Given the description of an element on the screen output the (x, y) to click on. 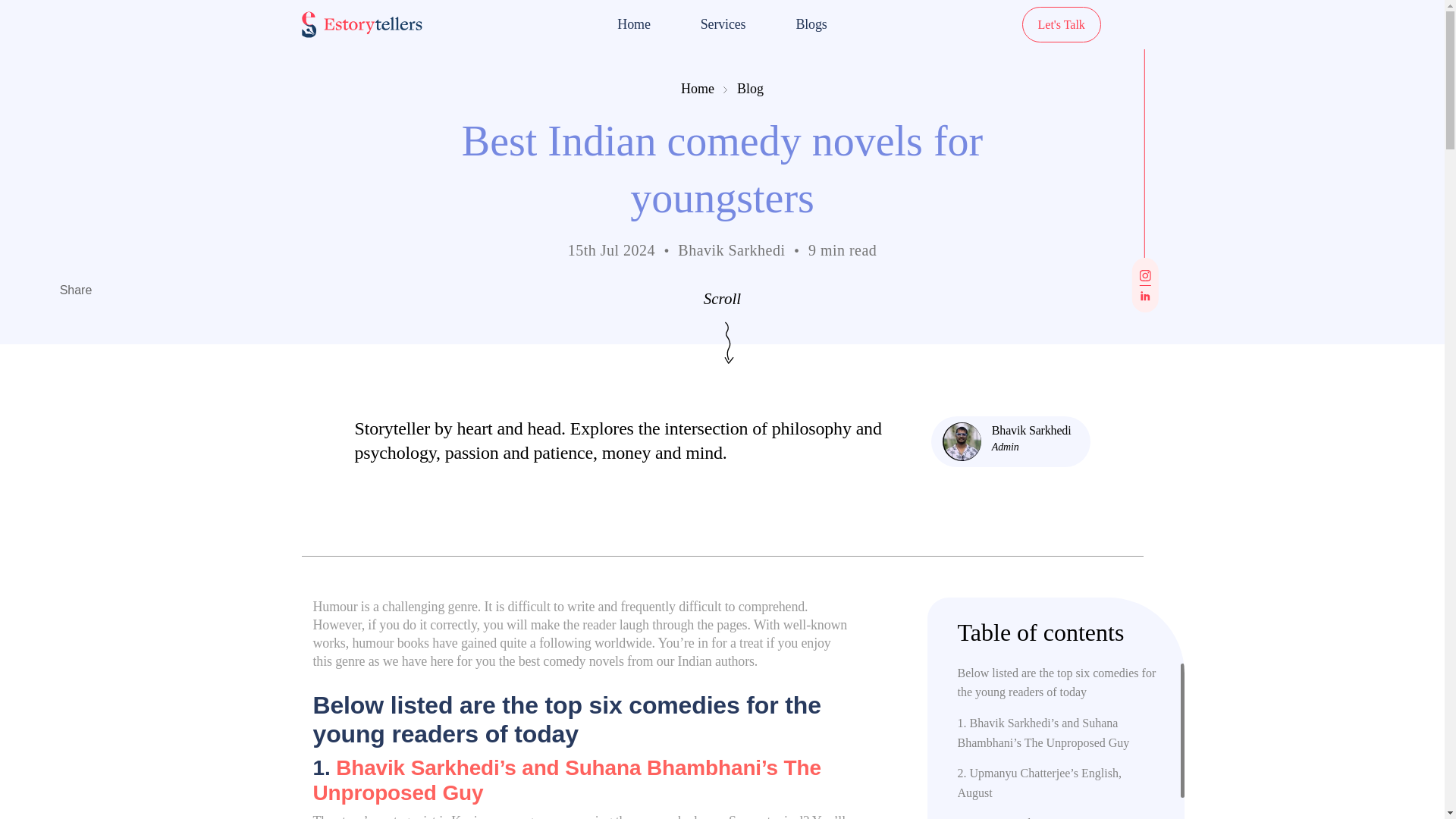
Let's Talk (1061, 24)
Scroll (721, 298)
Home (697, 88)
Services (723, 24)
Bhavik Sarkhedi (1031, 430)
Blog (749, 88)
Home (633, 24)
Bhavik Sarkhedi (1031, 430)
Blogs (810, 24)
